Given the description of an element on the screen output the (x, y) to click on. 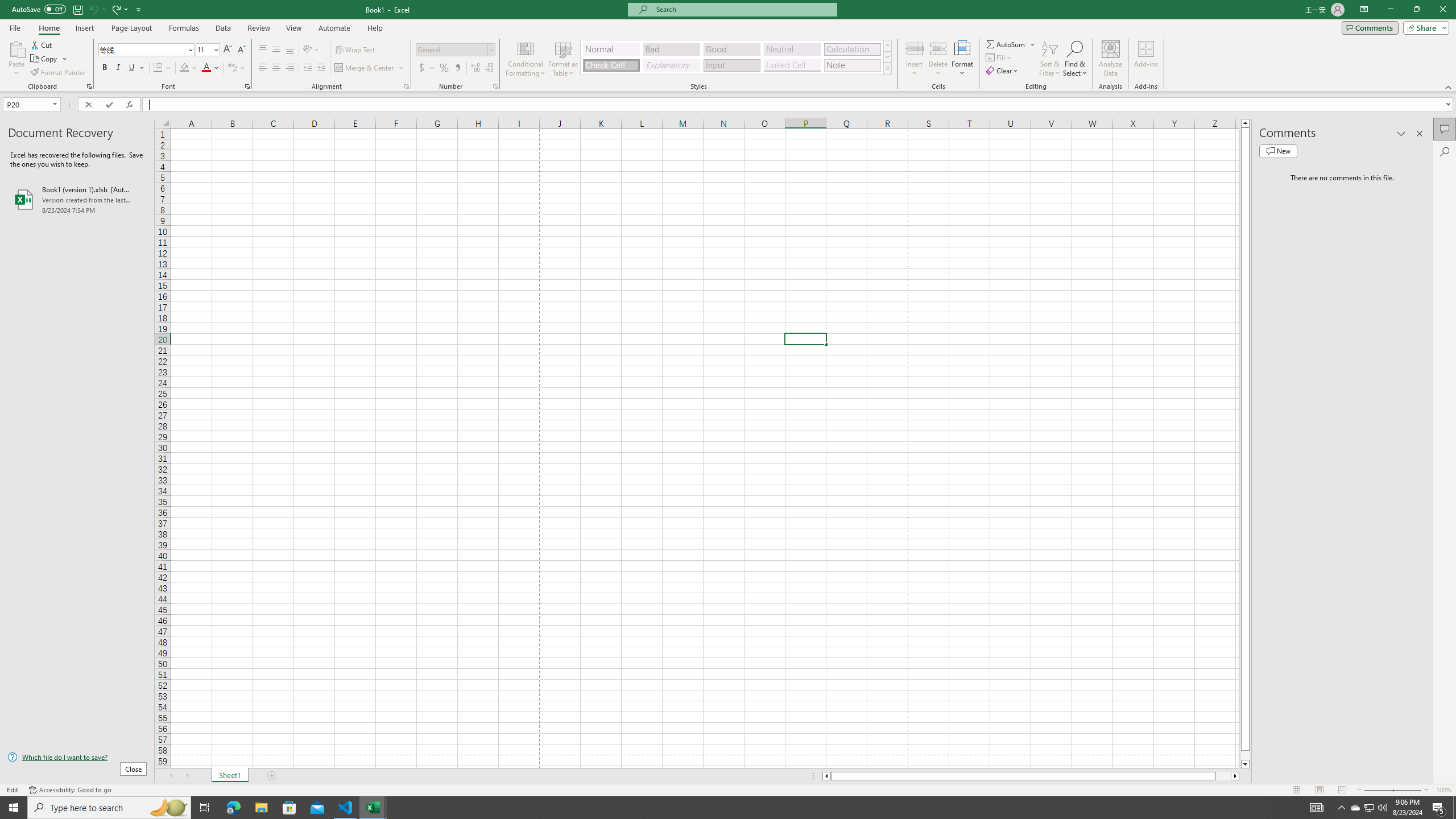
Show Phonetic Field (231, 67)
AutoSave (38, 9)
Data (223, 28)
Formulas (184, 28)
Page down (1245, 755)
Accounting Number Format (426, 67)
Font Size (207, 49)
Automate (334, 28)
Home (48, 28)
Font Size (204, 49)
AutomationID: CellStylesGallery (736, 57)
Row Down (887, 56)
